Given the description of an element on the screen output the (x, y) to click on. 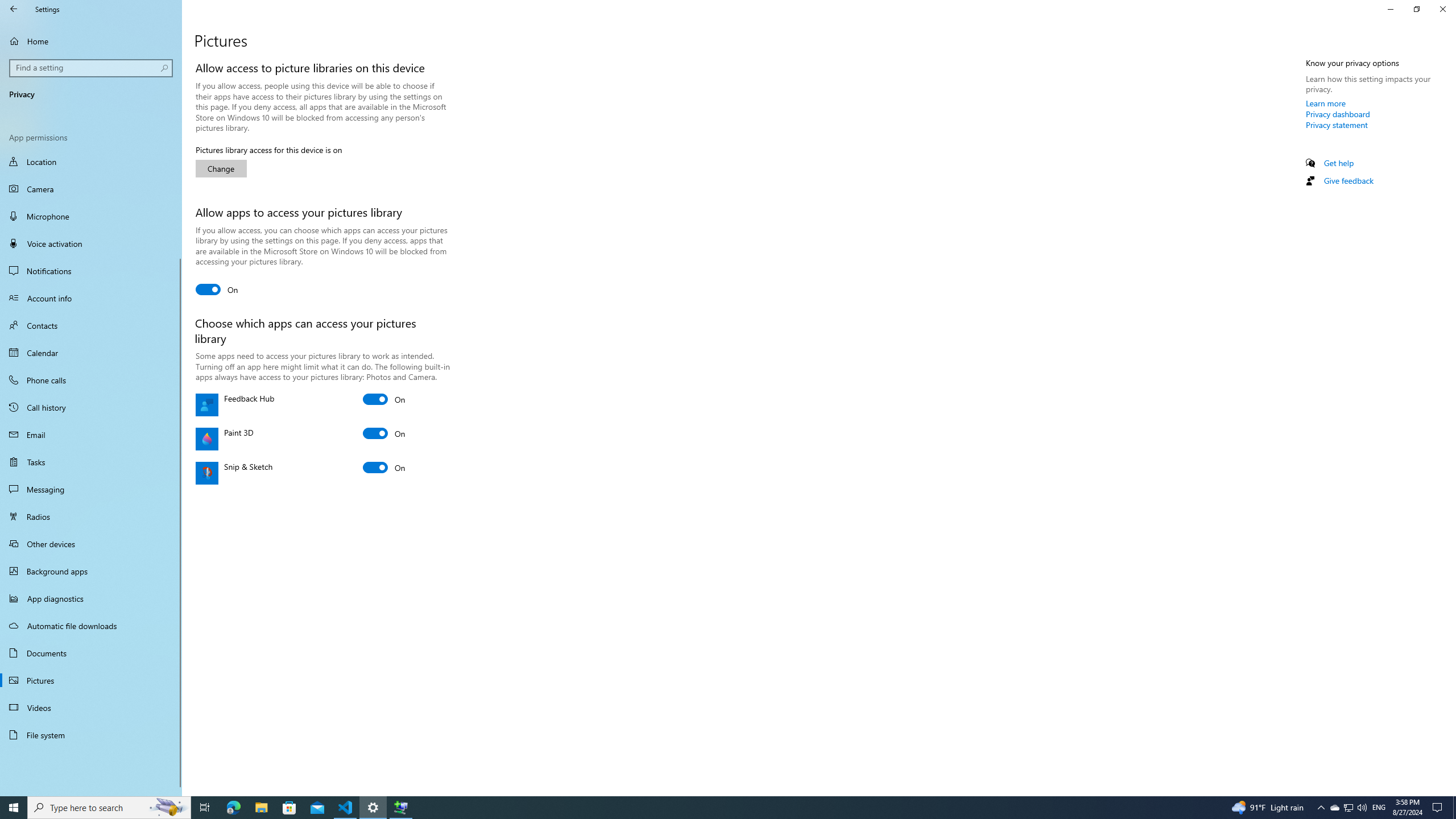
Radios (91, 515)
Change (221, 168)
Camera (91, 188)
File system (91, 734)
Pictures (91, 679)
Privacy dashboard (1338, 113)
Paint 3D (384, 433)
Snip & Sketch (384, 467)
Call history (91, 406)
